Given the description of an element on the screen output the (x, y) to click on. 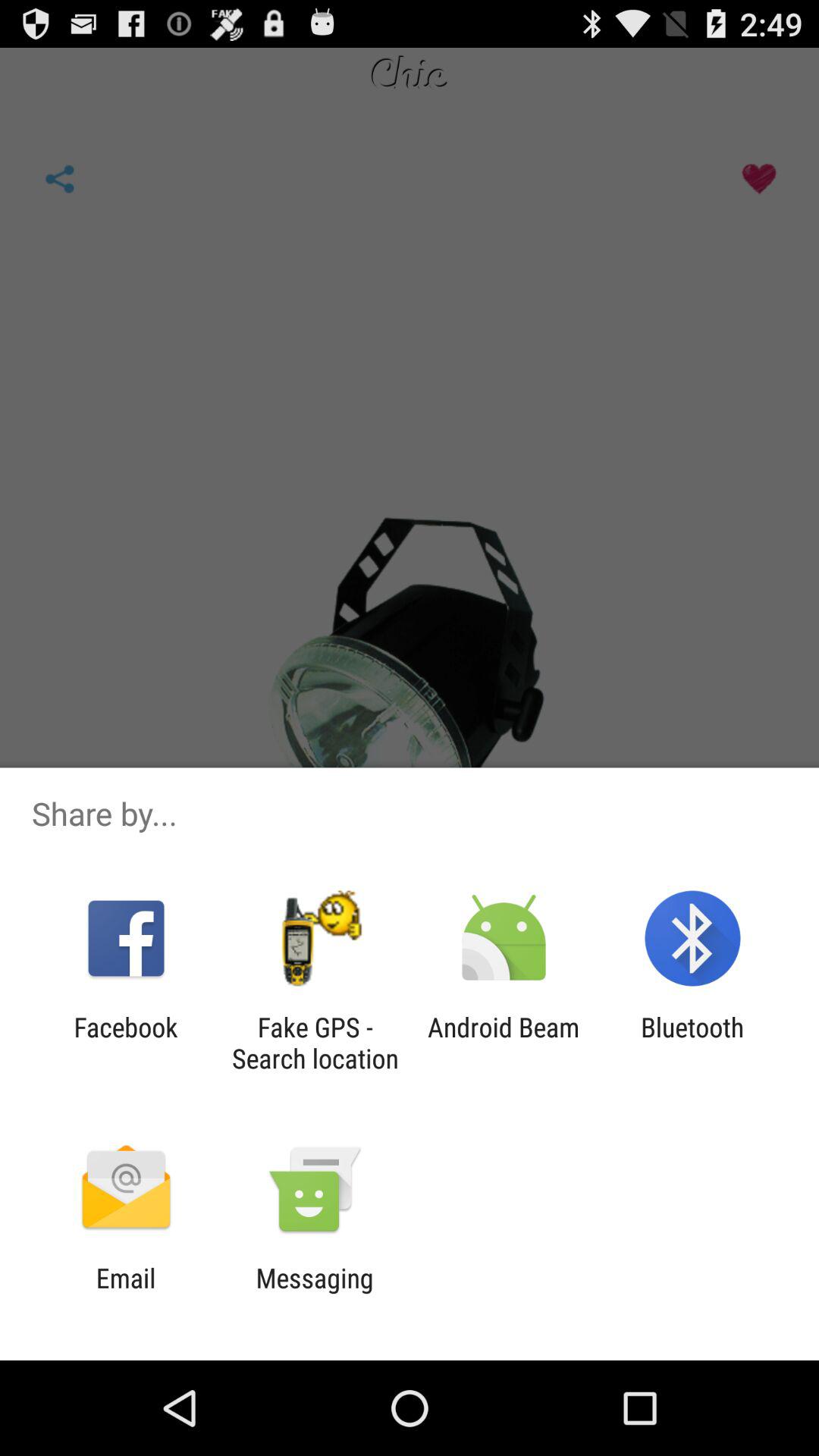
scroll to the android beam app (503, 1042)
